Given the description of an element on the screen output the (x, y) to click on. 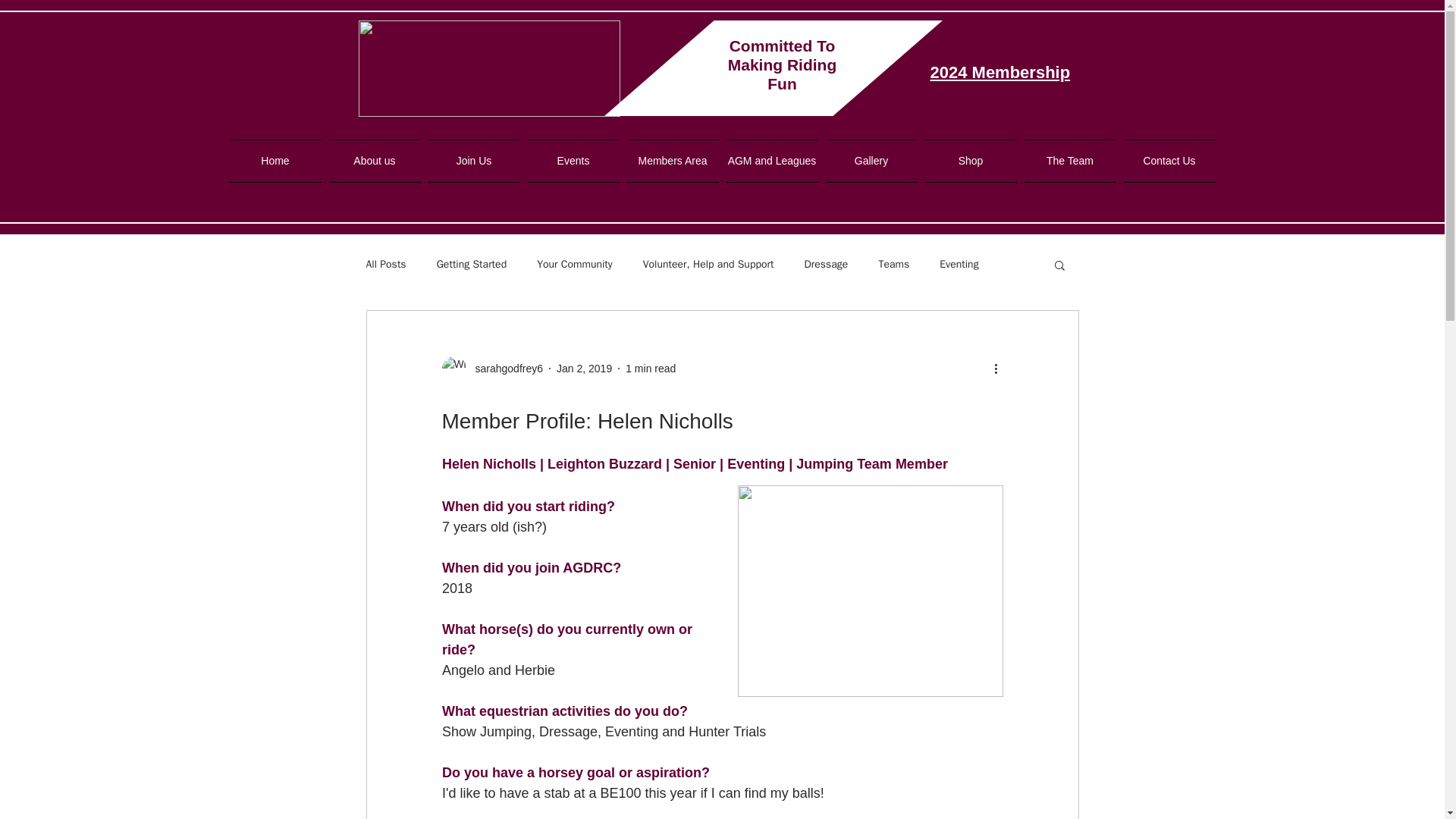
Your Community (574, 264)
Jan 2, 2019 (583, 368)
1 min read (650, 368)
Home (274, 160)
Eventing (958, 264)
The Team (1069, 160)
All Posts (385, 264)
Contact Us (1168, 160)
Volunteer, Help and Support (708, 264)
Events (572, 160)
